Given the description of an element on the screen output the (x, y) to click on. 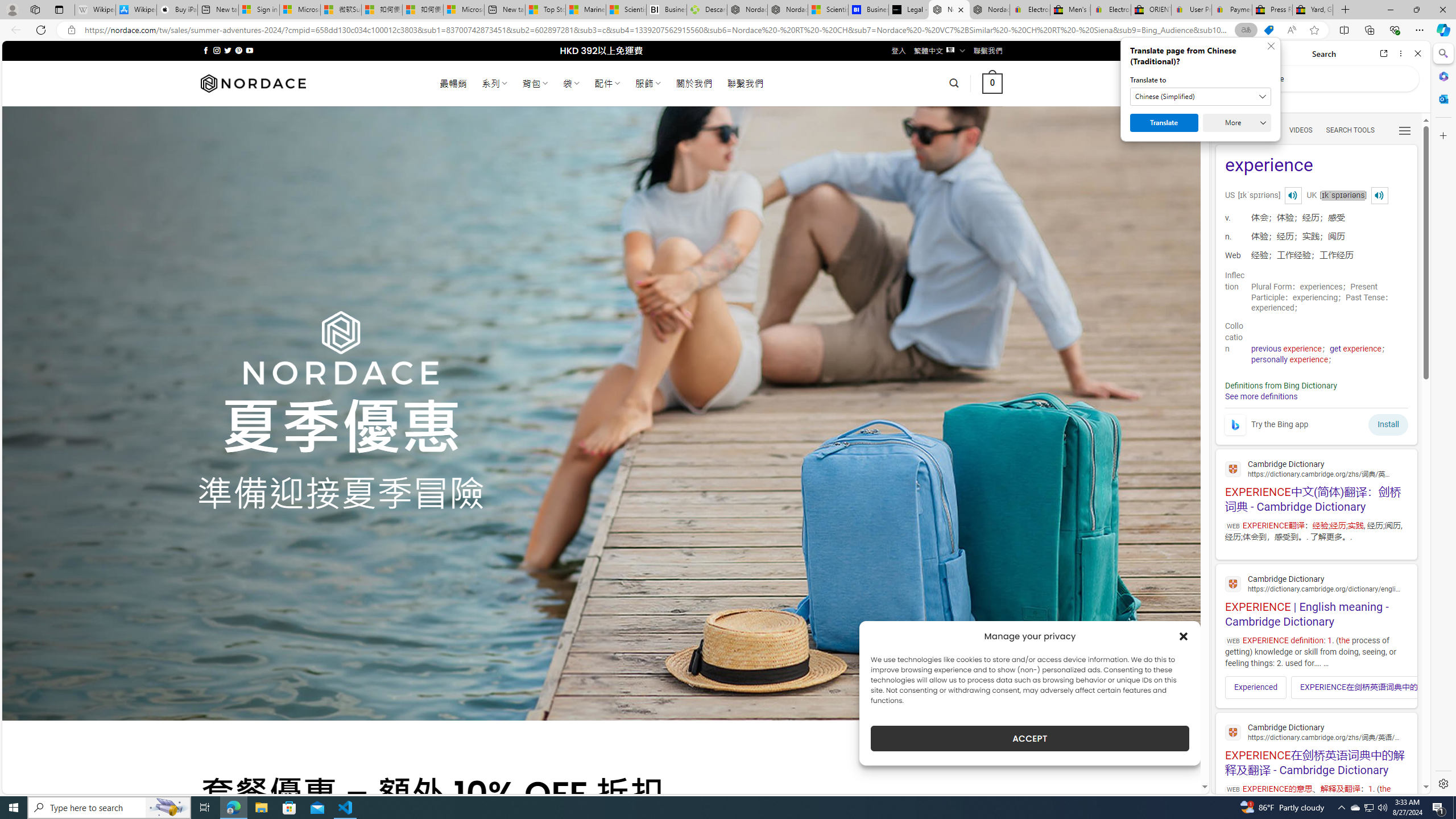
Class: b_serphb (1404, 130)
Electronics, Cars, Fashion, Collectibles & More | eBay (1110, 9)
Translate (1163, 122)
User Privacy Notice | eBay (1191, 9)
Experienced (1255, 687)
